Given the description of an element on the screen output the (x, y) to click on. 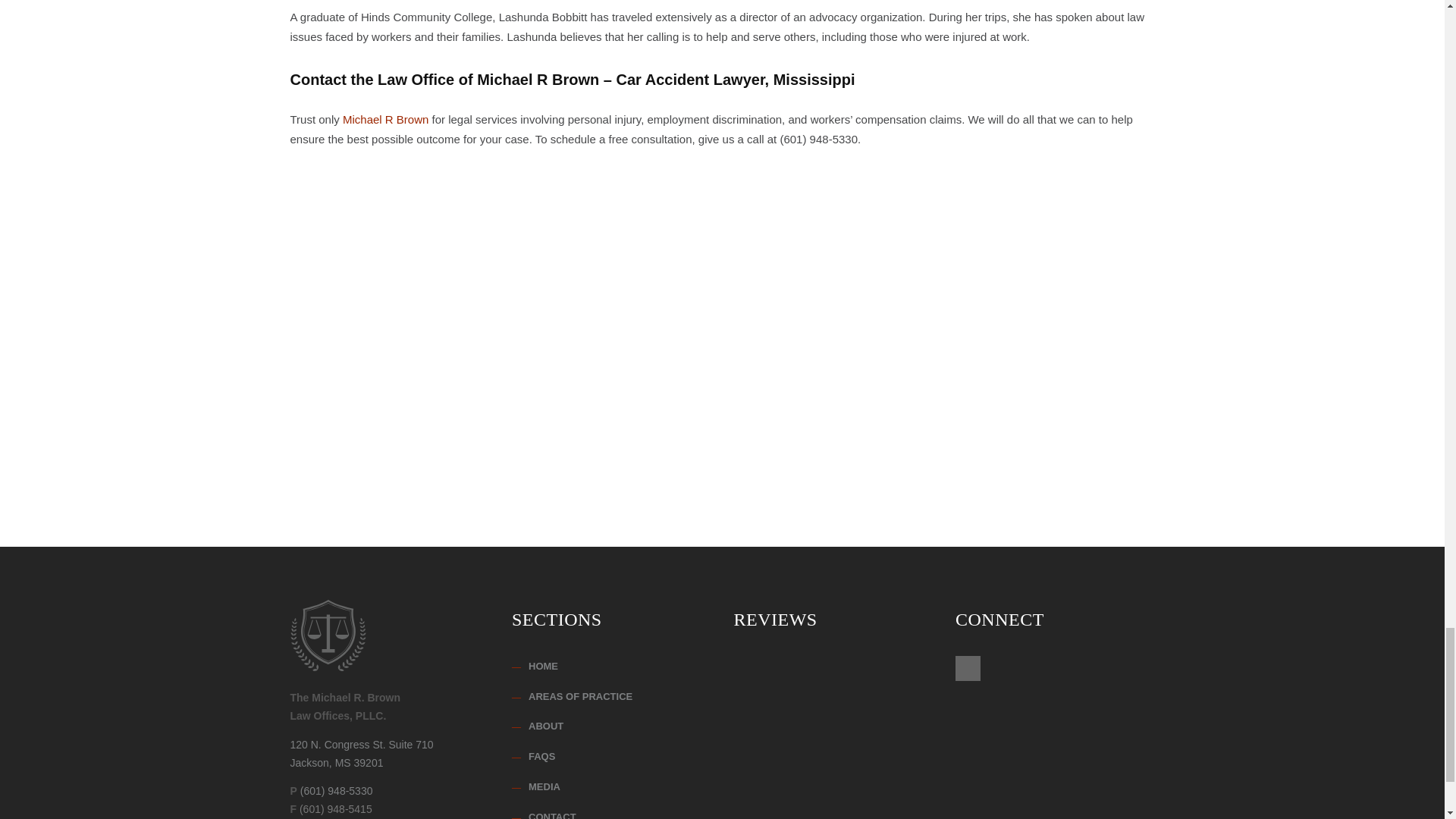
ABOUT (360, 753)
CONTACT (611, 727)
AREAS OF PRACTICE (611, 814)
FAQS (611, 697)
Michael R Brown (611, 757)
HOME (385, 119)
MEDIA (611, 667)
